Given the description of an element on the screen output the (x, y) to click on. 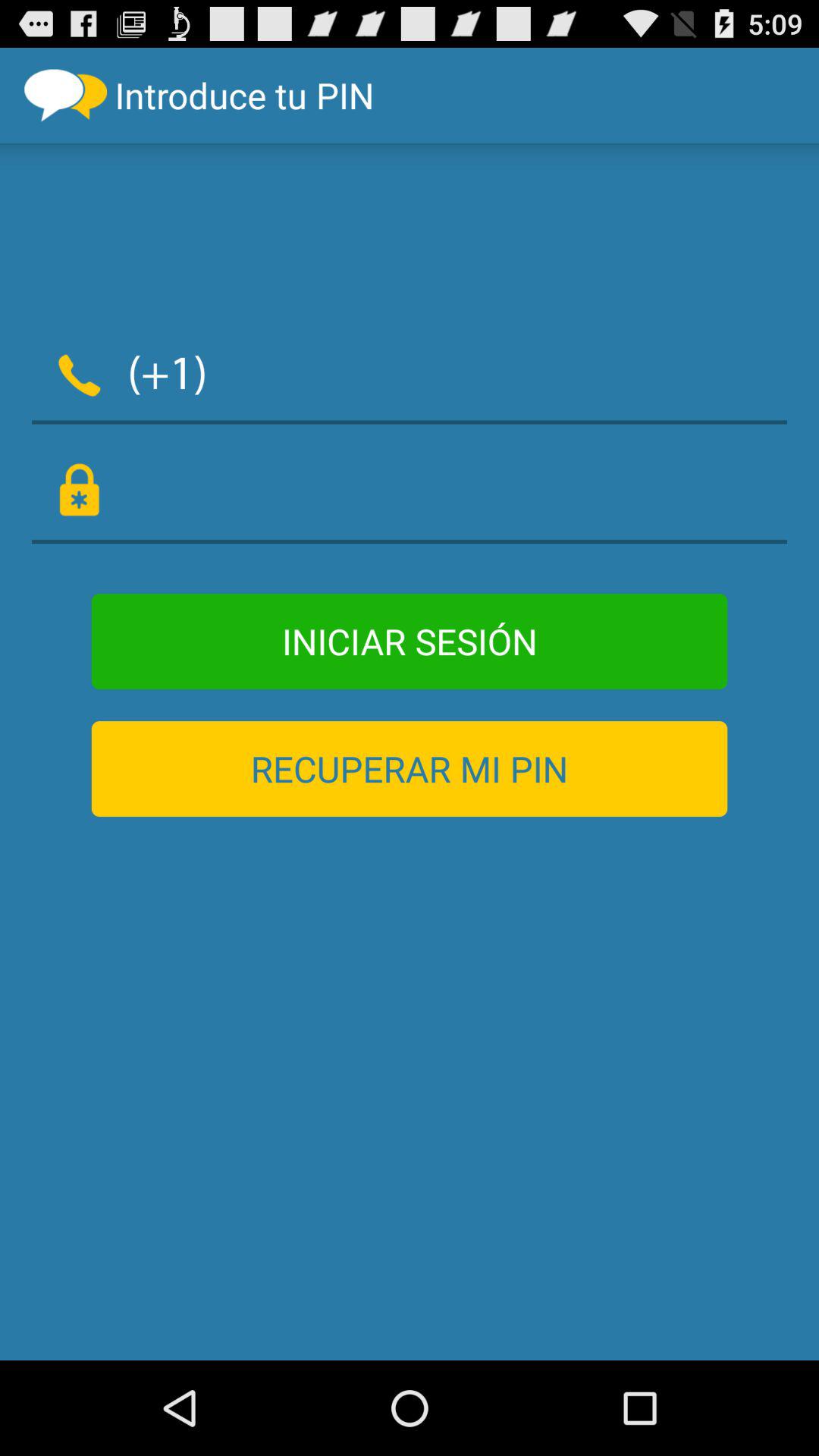
tap item above the recuperar mi pin (409, 641)
